Given the description of an element on the screen output the (x, y) to click on. 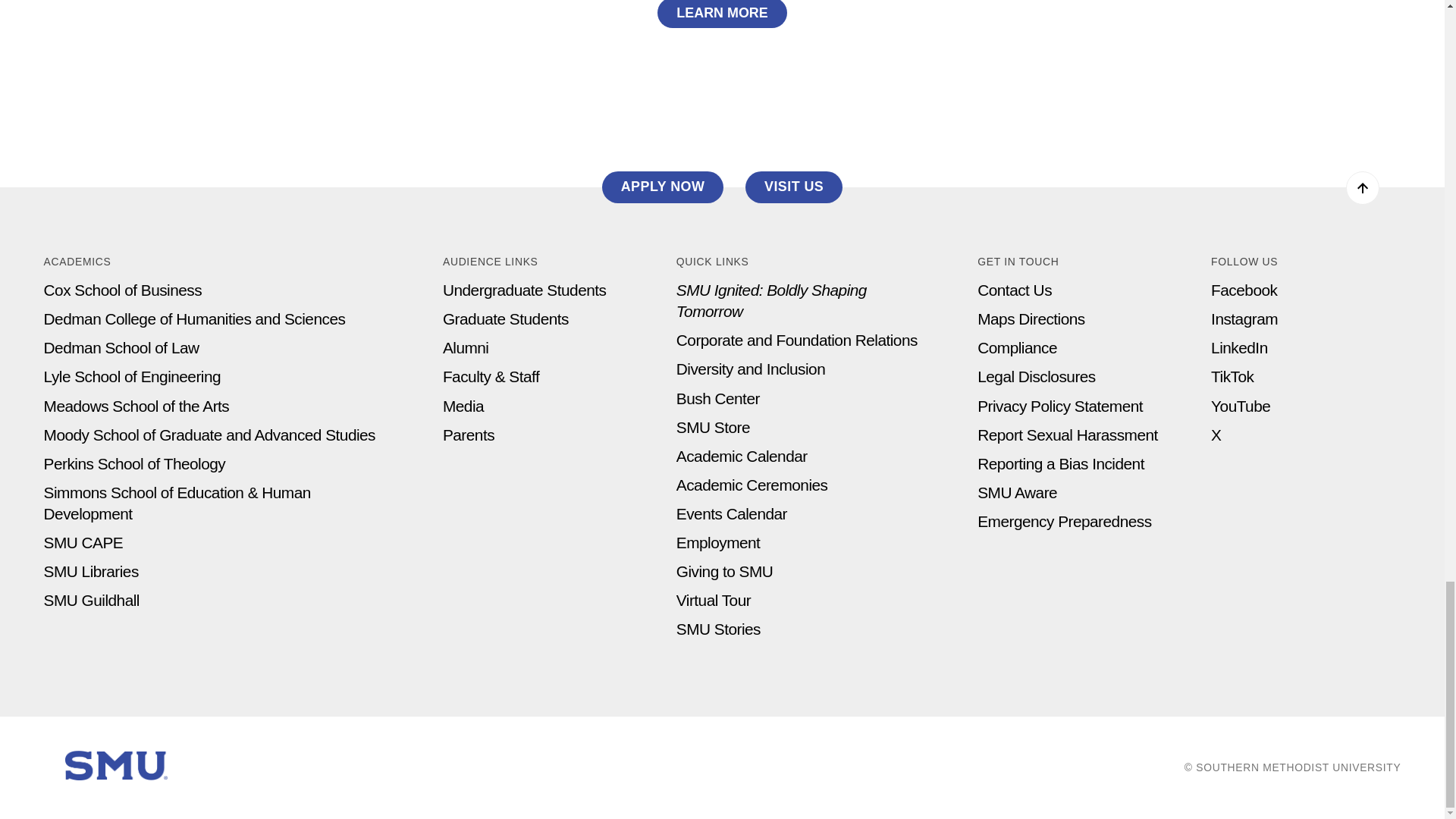
Media (462, 405)
Graduate Students (505, 318)
Cox School of Business (122, 289)
Lyle School of Engineering (132, 375)
Meadows School of the Arts (136, 405)
Meadows School of the Arts (136, 405)
Corporate and Foundation Relations (797, 339)
Parents (468, 434)
Diversity and Inclusion (751, 368)
Dedman School of Law (121, 347)
APPLY NOW (662, 187)
Cox School of Business (122, 289)
LEARN MORE (722, 14)
Lyle School of Engineering (132, 375)
SMU Libraries (90, 570)
